Given the description of an element on the screen output the (x, y) to click on. 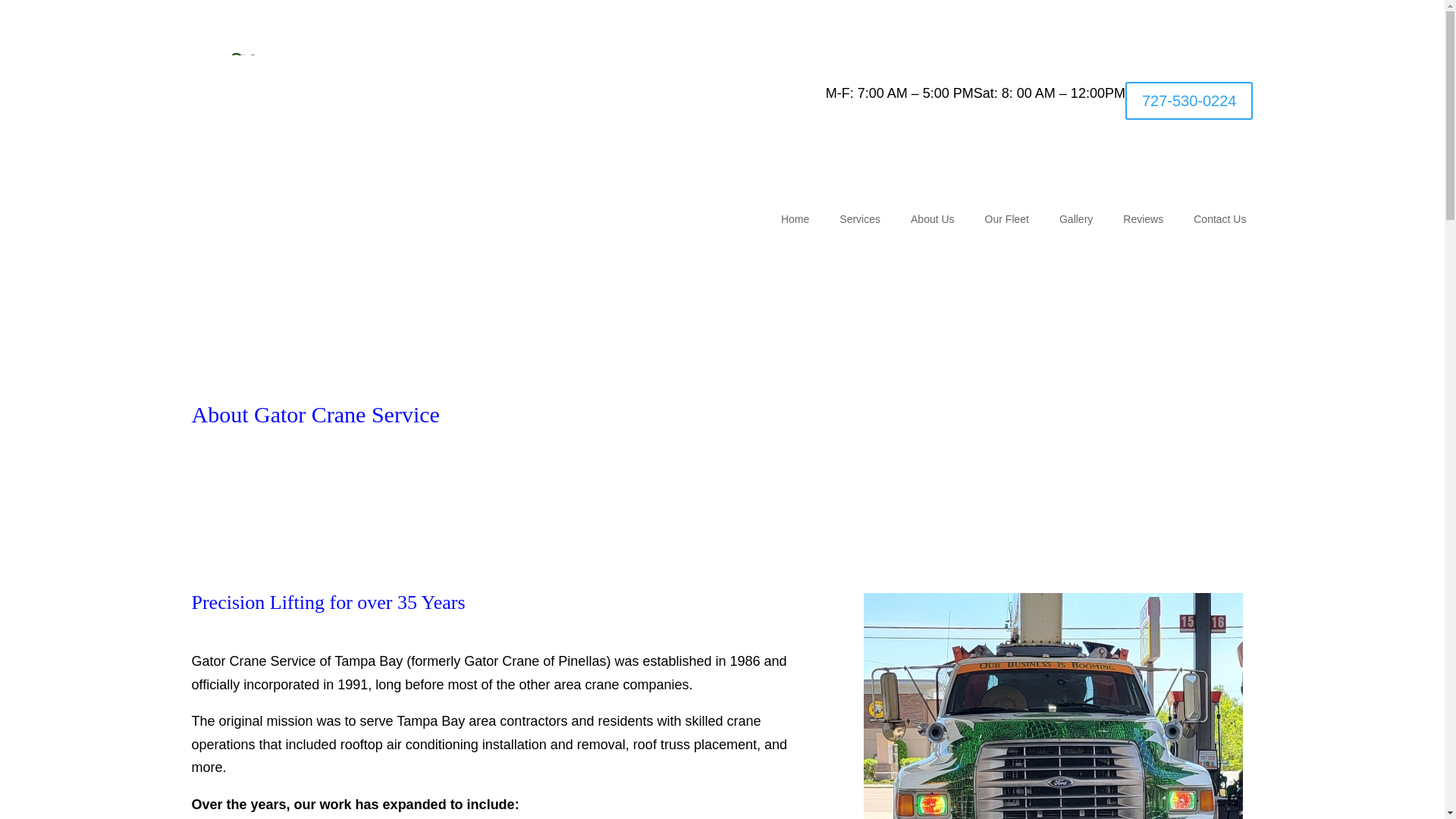
Gallery (1076, 221)
About Us (933, 221)
Contact Us (1219, 221)
Our Fleet (1007, 221)
Home (794, 221)
727-530-0224 (1189, 100)
Reviews (1142, 221)
Services (860, 221)
